Given the description of an element on the screen output the (x, y) to click on. 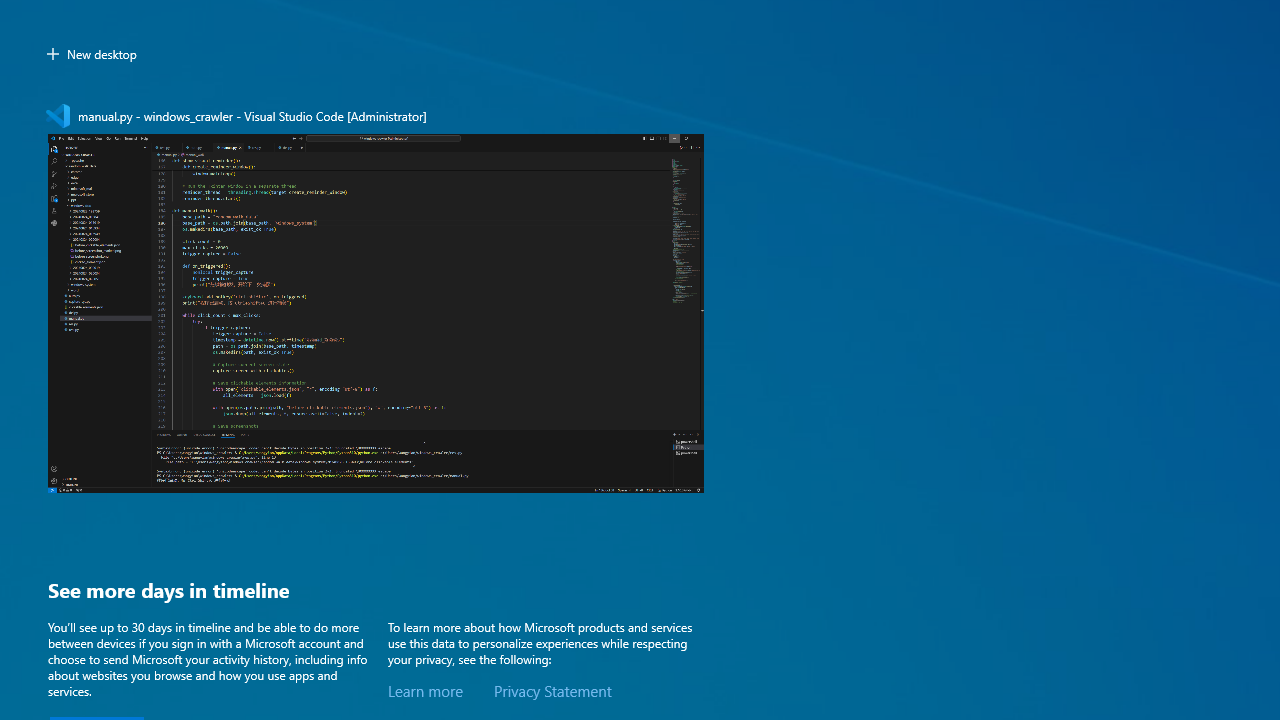
Learn more (425, 691)
Close (694, 115)
New desktop (91, 53)
Privacy Statement (552, 691)
